Given the description of an element on the screen output the (x, y) to click on. 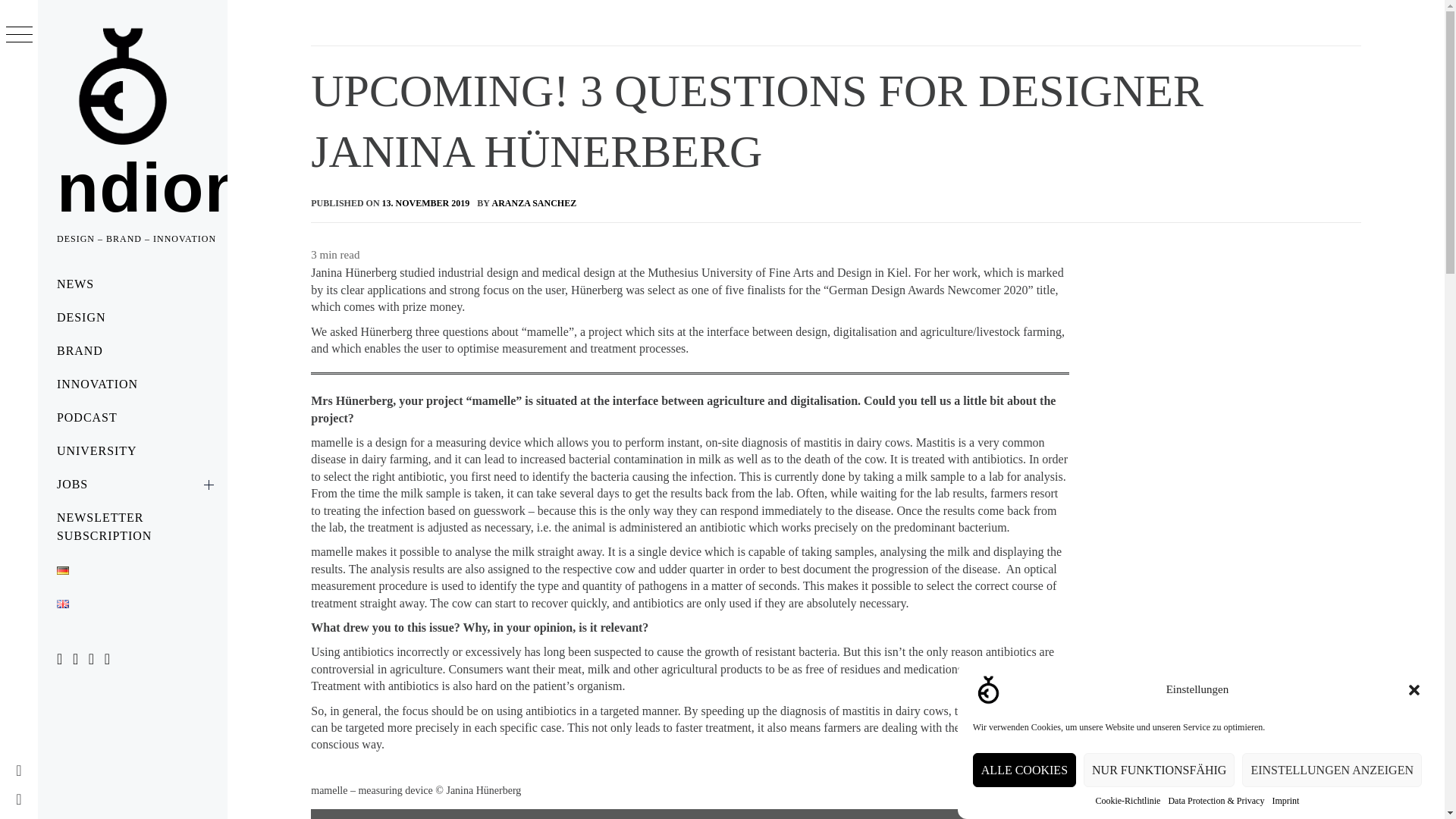
PODCAST (132, 417)
DESIGN (132, 317)
13. NOVEMBER 2019 (425, 203)
UNIVERSITY (132, 450)
NEWSLETTER SUBSCRIPTION (132, 526)
ndion (151, 187)
ARANZA SANCHEZ (534, 203)
Search (633, 49)
NEWS (132, 284)
BRAND (132, 350)
